Given the description of an element on the screen output the (x, y) to click on. 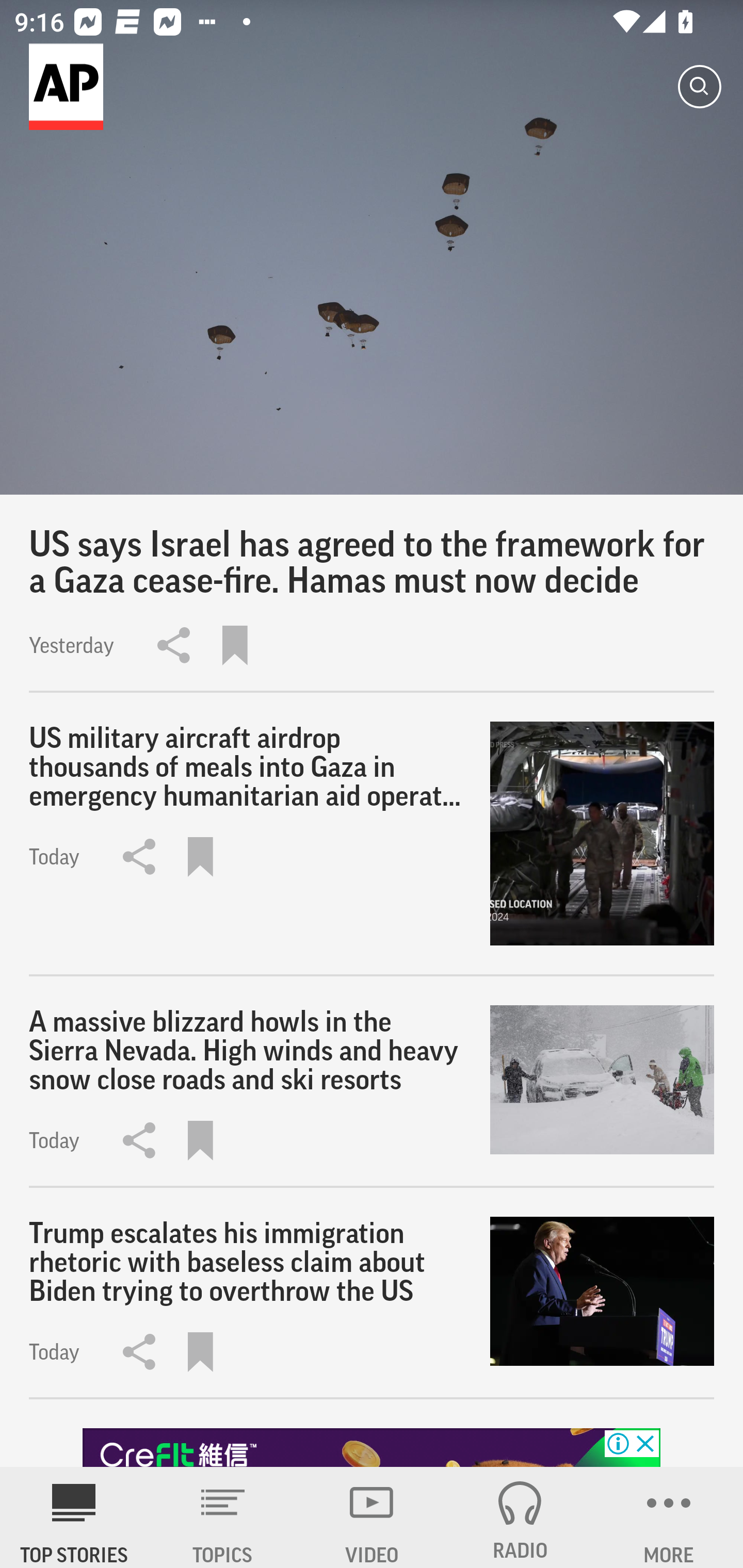
AP News TOP STORIES (74, 1517)
TOPICS (222, 1517)
VIDEO (371, 1517)
RADIO (519, 1517)
MORE (668, 1517)
